Given the description of an element on the screen output the (x, y) to click on. 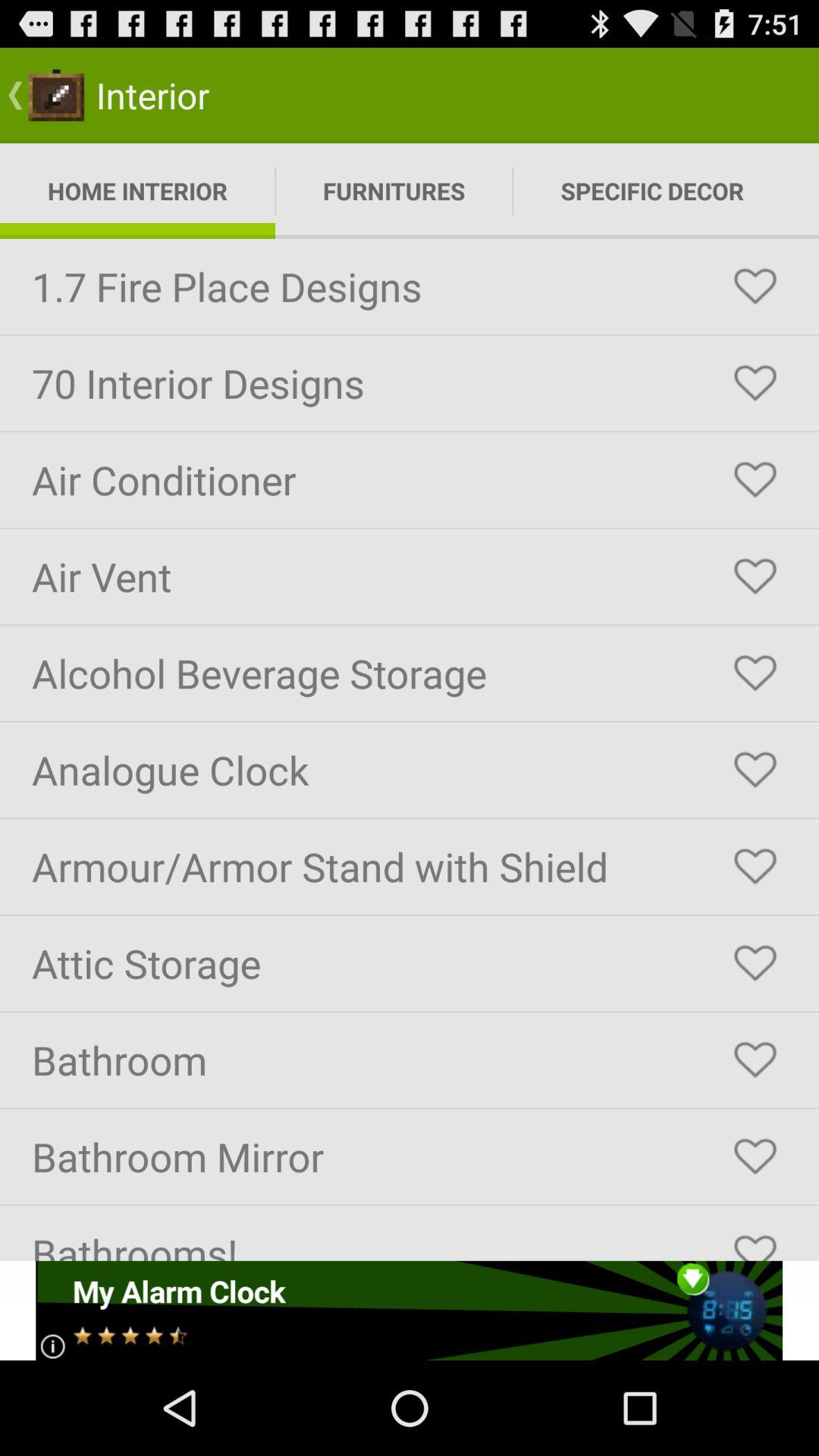
like the feature (755, 576)
